Given the description of an element on the screen output the (x, y) to click on. 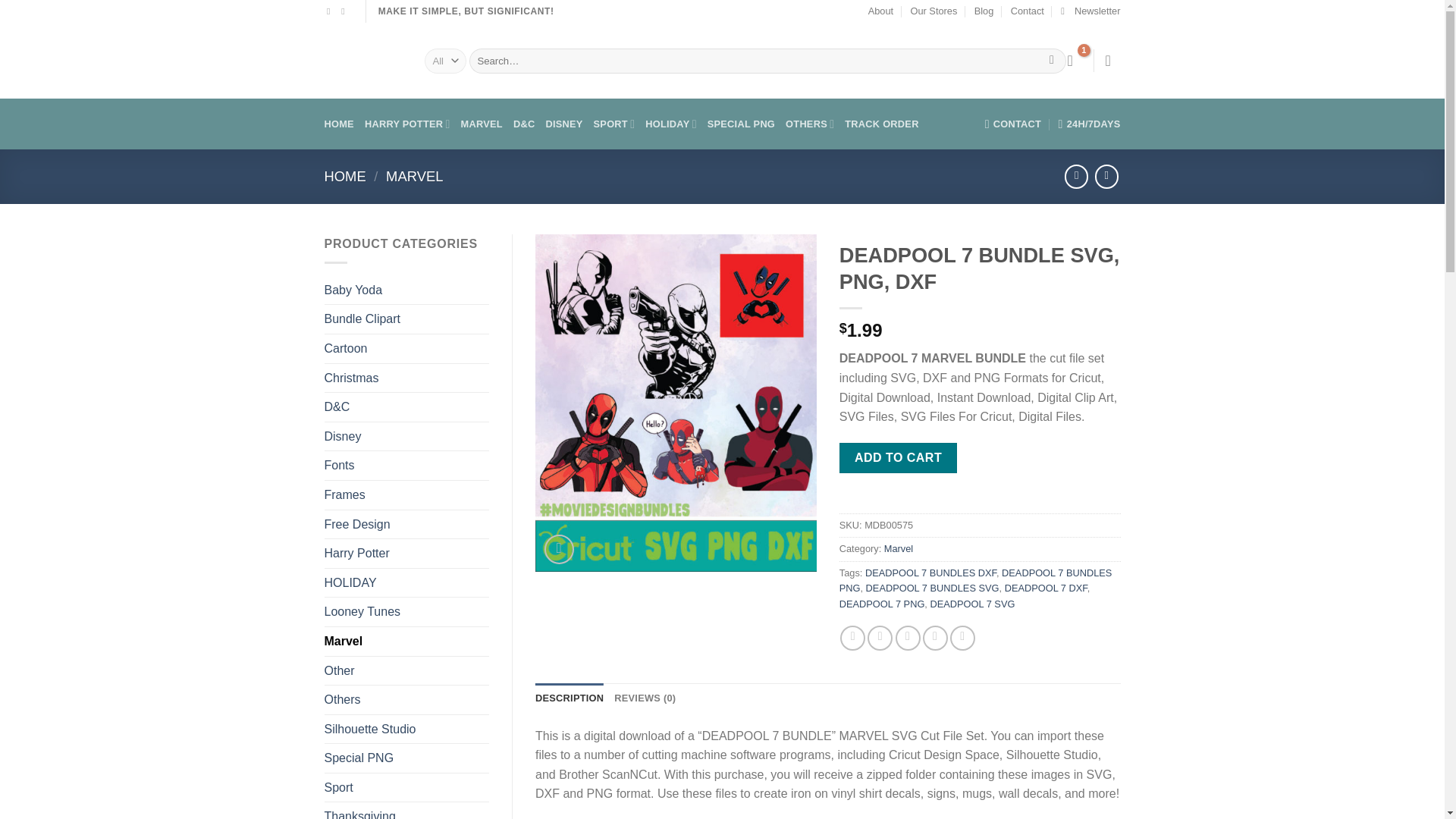
Share on Facebook (852, 637)
Sign up for Newsletter (1090, 11)
Movie Design Bundles - Everything you need in this one! (362, 60)
Contact (1026, 11)
Search (1051, 61)
Share on Twitter (879, 637)
About (880, 11)
Our Stores (933, 11)
HOLIDAY (671, 123)
